Given the description of an element on the screen output the (x, y) to click on. 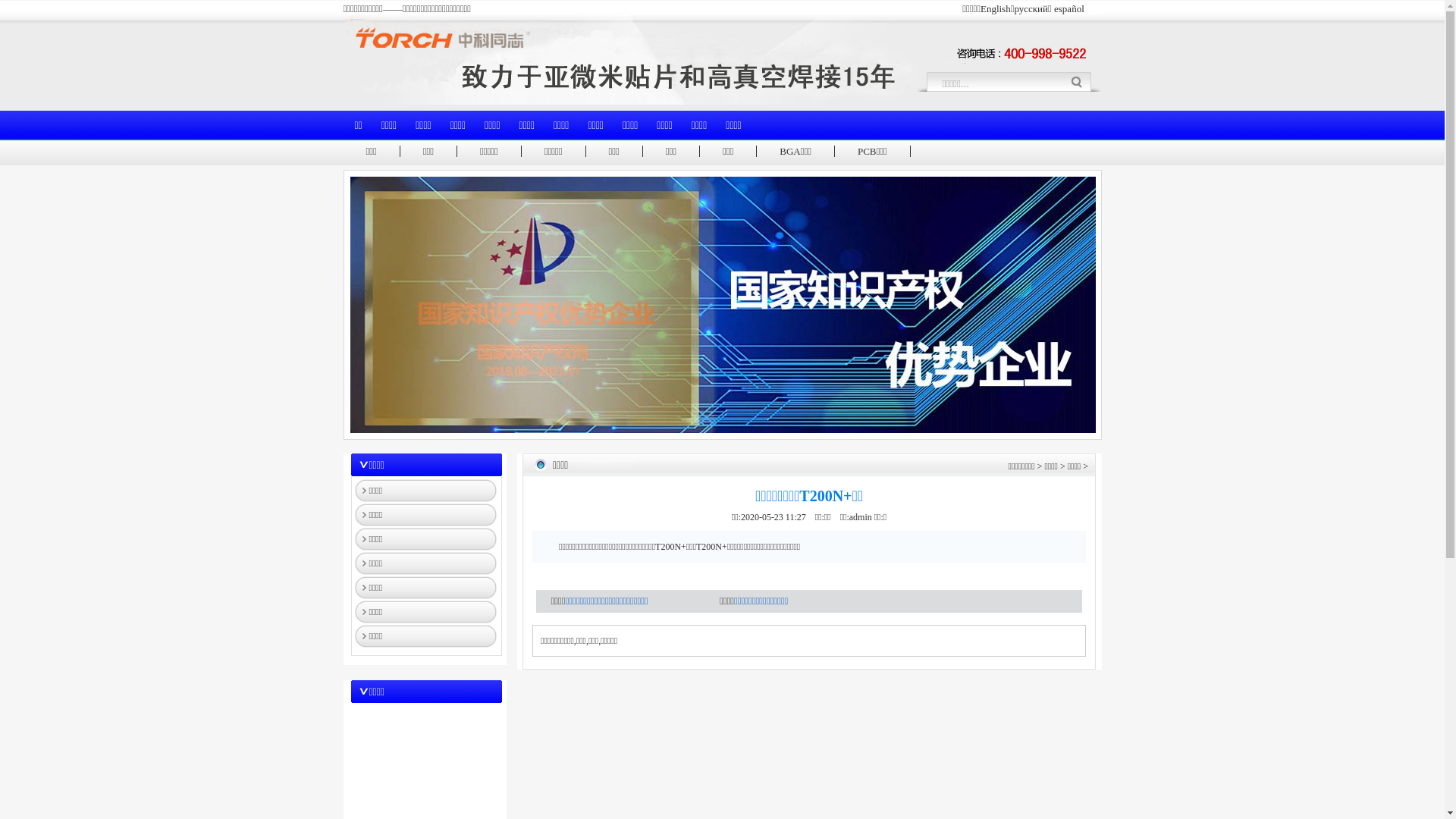
English Element type: text (995, 8)
